Given the description of an element on the screen output the (x, y) to click on. 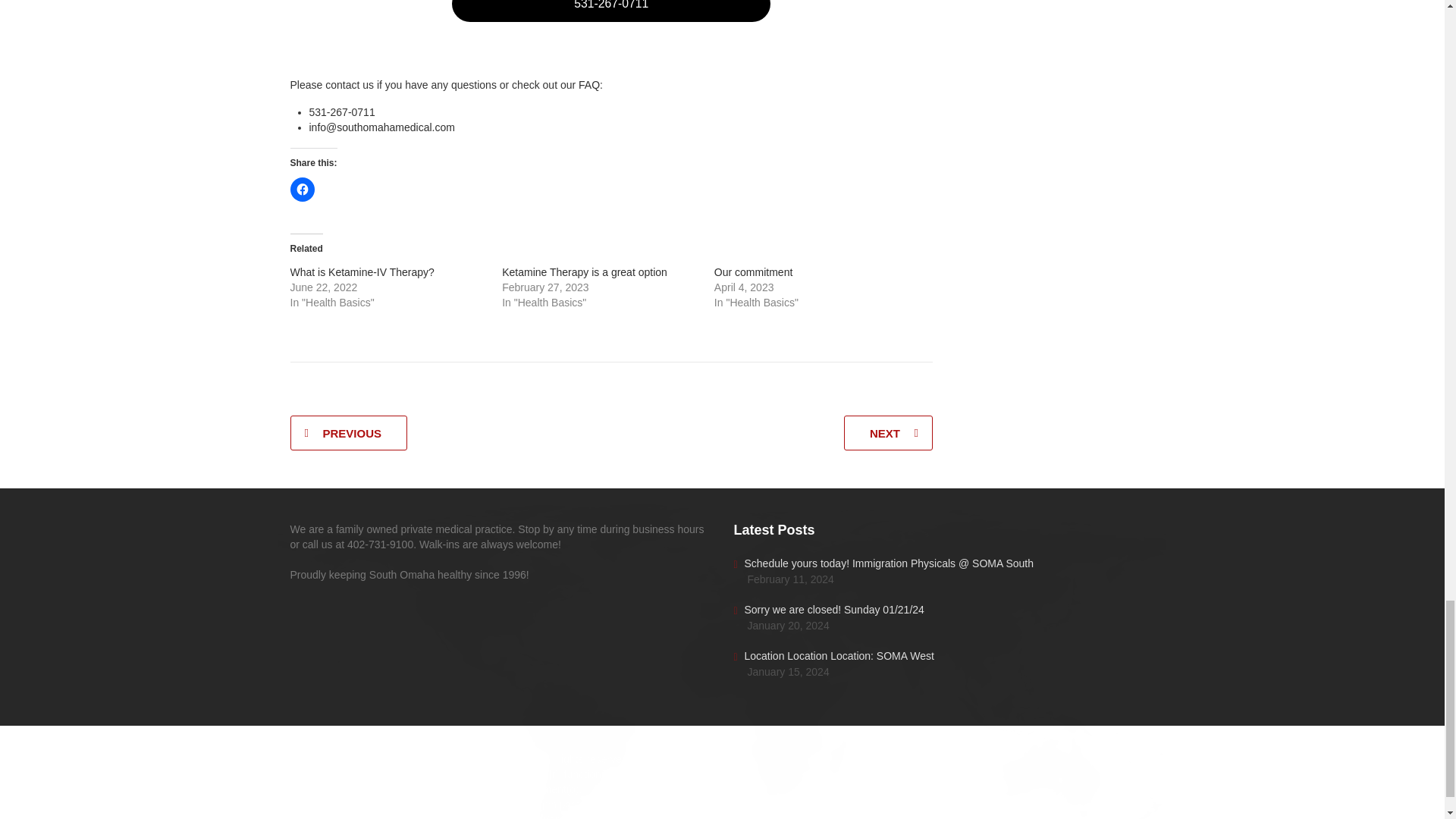
Our commitment (753, 272)
Click to share on Facebook (301, 189)
What is Ketamine-IV Therapy? (361, 272)
Ketamine Therapy is a great option (584, 272)
